Given the description of an element on the screen output the (x, y) to click on. 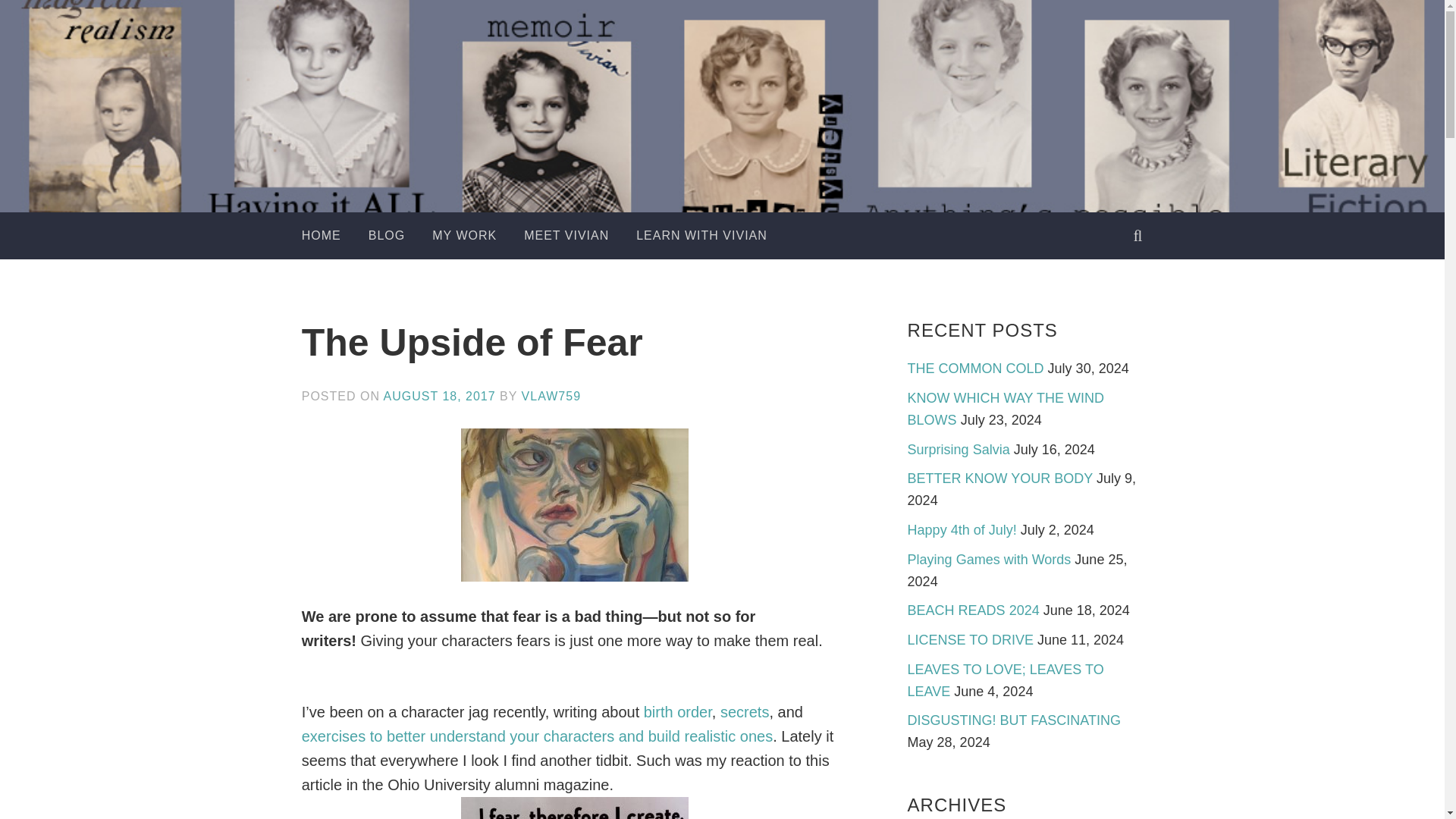
LEARN WITH VIVIAN (701, 235)
MEET VIVIAN (566, 235)
MY WORK (464, 235)
secrets (744, 711)
Vivian Lawry (783, 159)
VLAW759 (550, 395)
birth order (677, 711)
AUGUST 18, 2017 (440, 395)
